Given the description of an element on the screen output the (x, y) to click on. 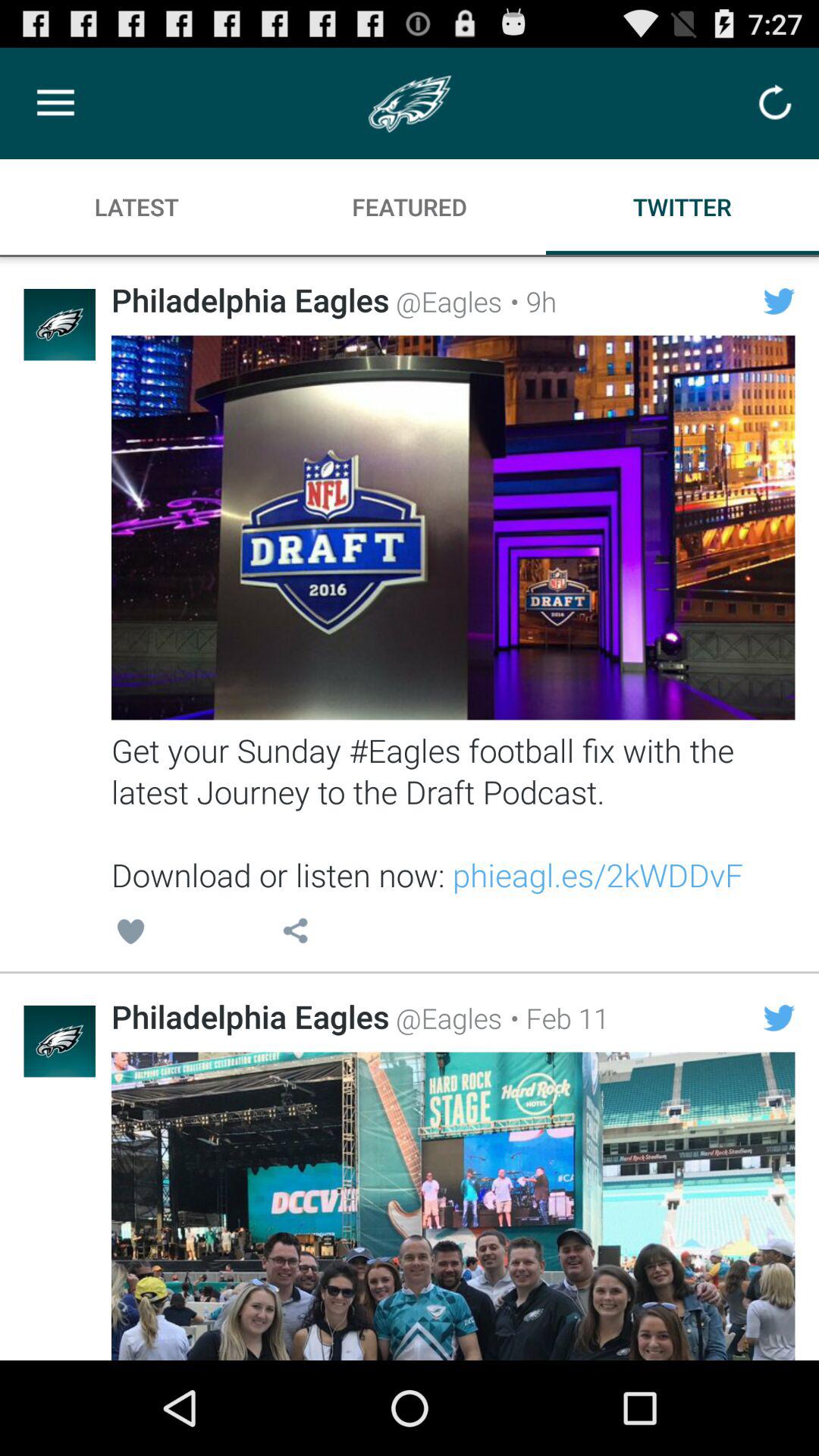
choose item below the get your sunday icon (555, 1017)
